Given the description of an element on the screen output the (x, y) to click on. 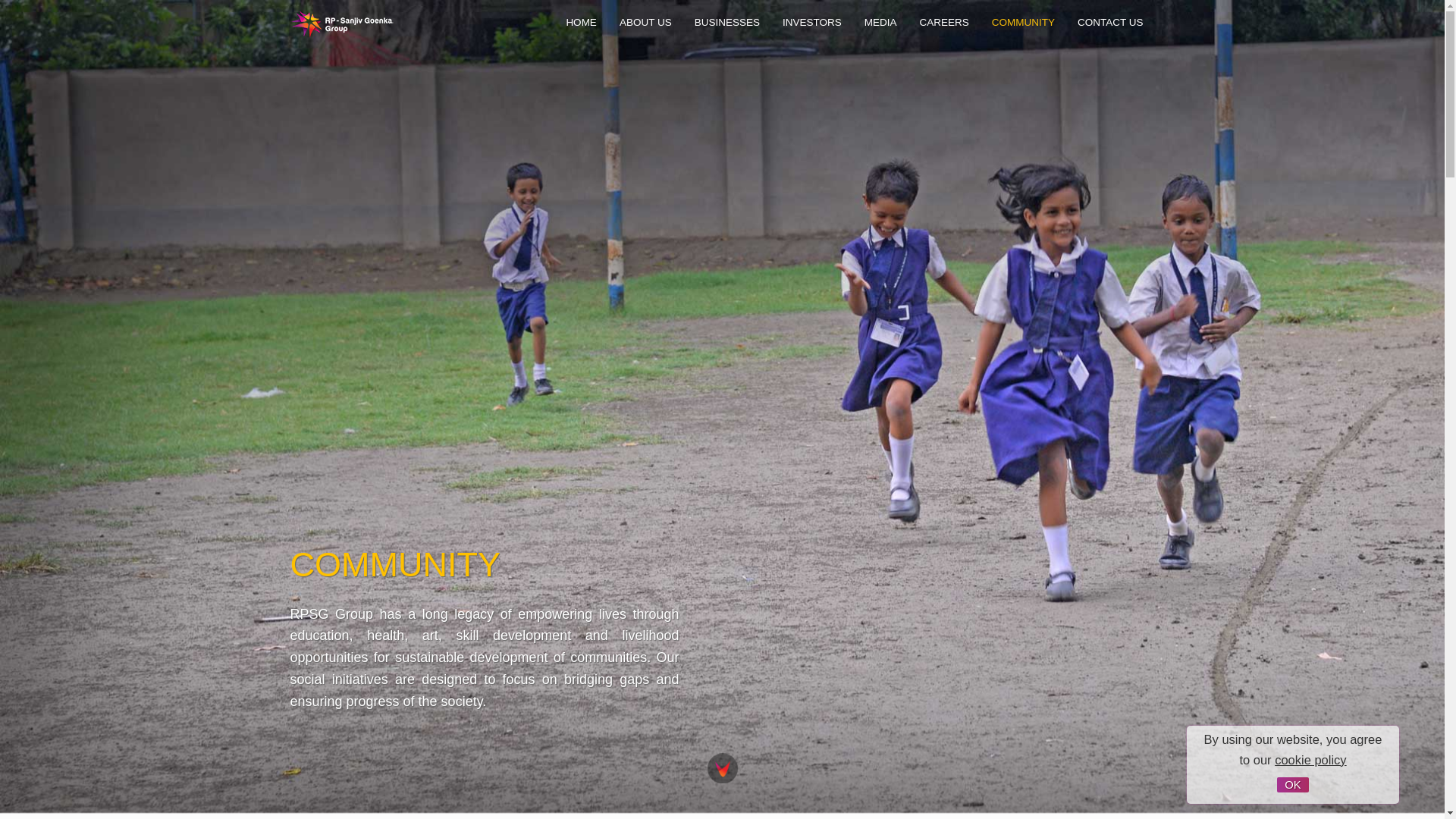
Careers (943, 22)
BUSINESSES (727, 22)
ABOUT US (645, 22)
COMMUNITY (1022, 22)
INVESTORS (812, 22)
About Us (645, 22)
RP-Sanjiv Goenka Group (341, 24)
Contact Us (1109, 22)
Business (727, 22)
CAREERS (943, 22)
CONTACT US (1109, 22)
Community (1022, 22)
Investors (812, 22)
